Given the description of an element on the screen output the (x, y) to click on. 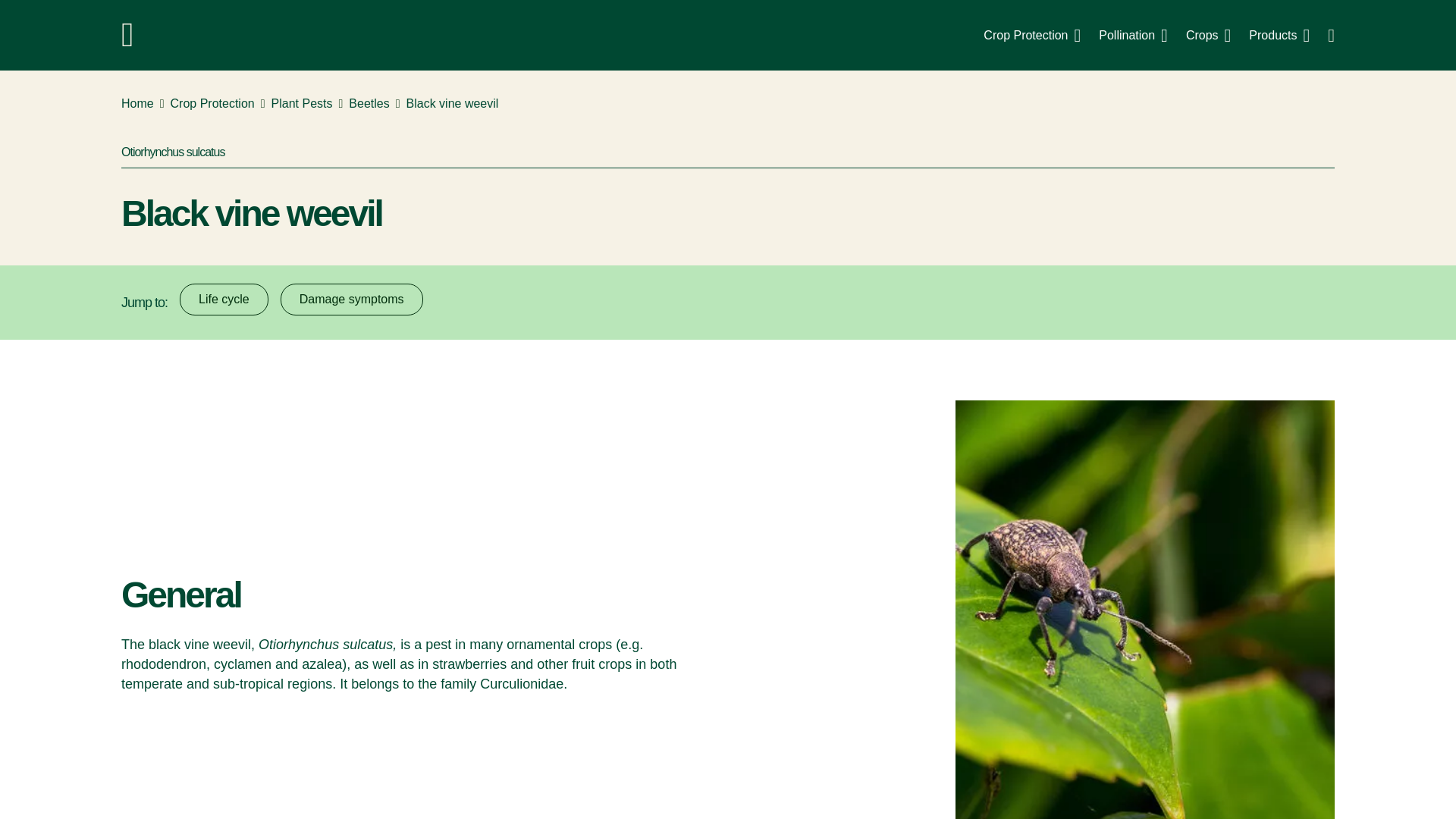
Crop Protection (212, 104)
Life cycle (223, 299)
Beetles (728, 35)
Pollination (368, 104)
Crops (1133, 34)
Damage symptoms (1208, 34)
Products (352, 299)
Home (1278, 34)
Crop Protection (137, 104)
Plant Pests (1032, 34)
